Given the description of an element on the screen output the (x, y) to click on. 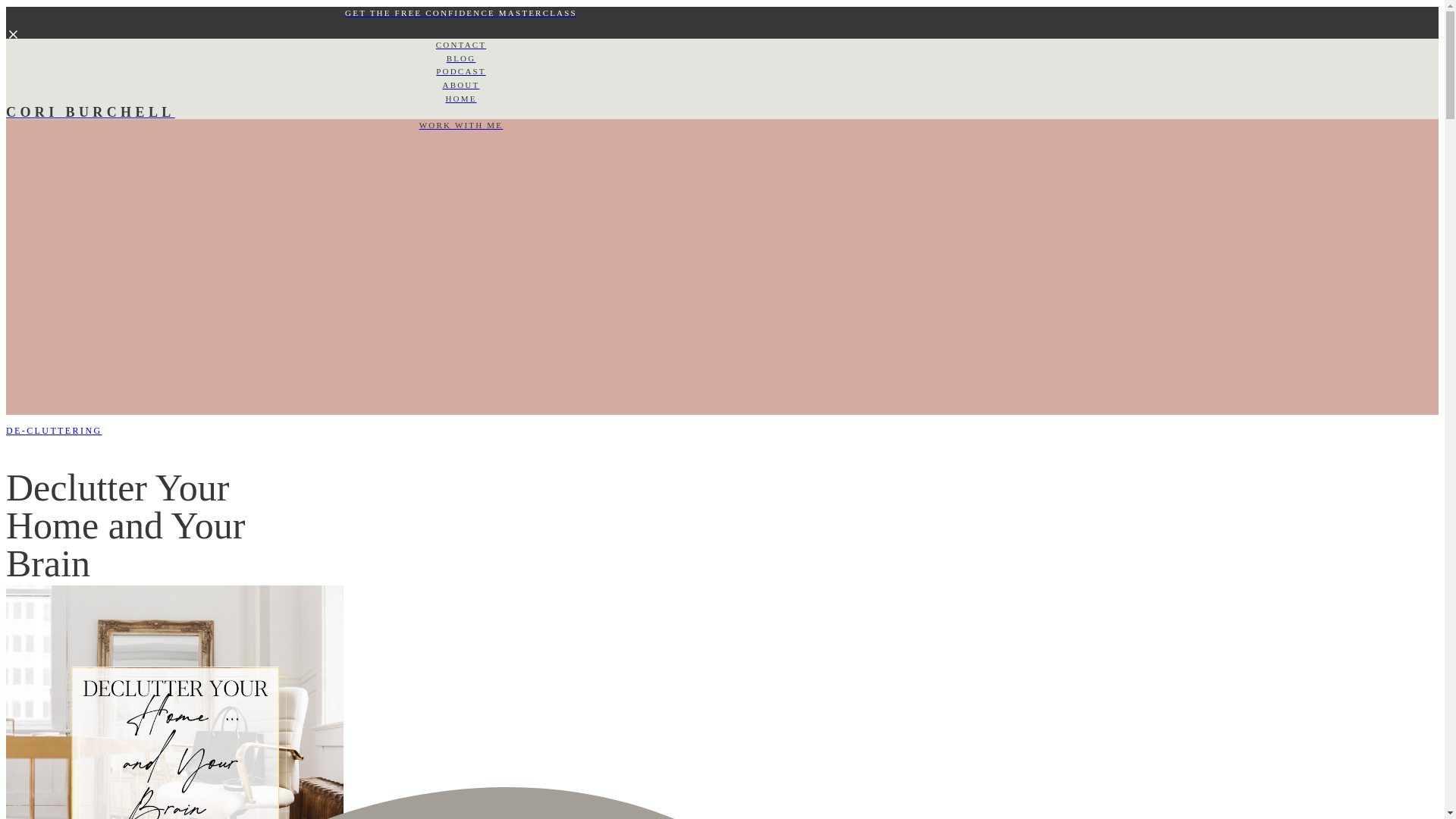
BLOG (460, 59)
WORK WITH ME (460, 125)
CORI BURCHELL (460, 111)
CONTACT (460, 45)
ABOUT (460, 85)
GET THE FREE CONFIDENCE MASTERCLASS (460, 13)
PODCAST (460, 71)
HOME (460, 99)
DE-CLUTTERING (53, 430)
